Given the description of an element on the screen output the (x, y) to click on. 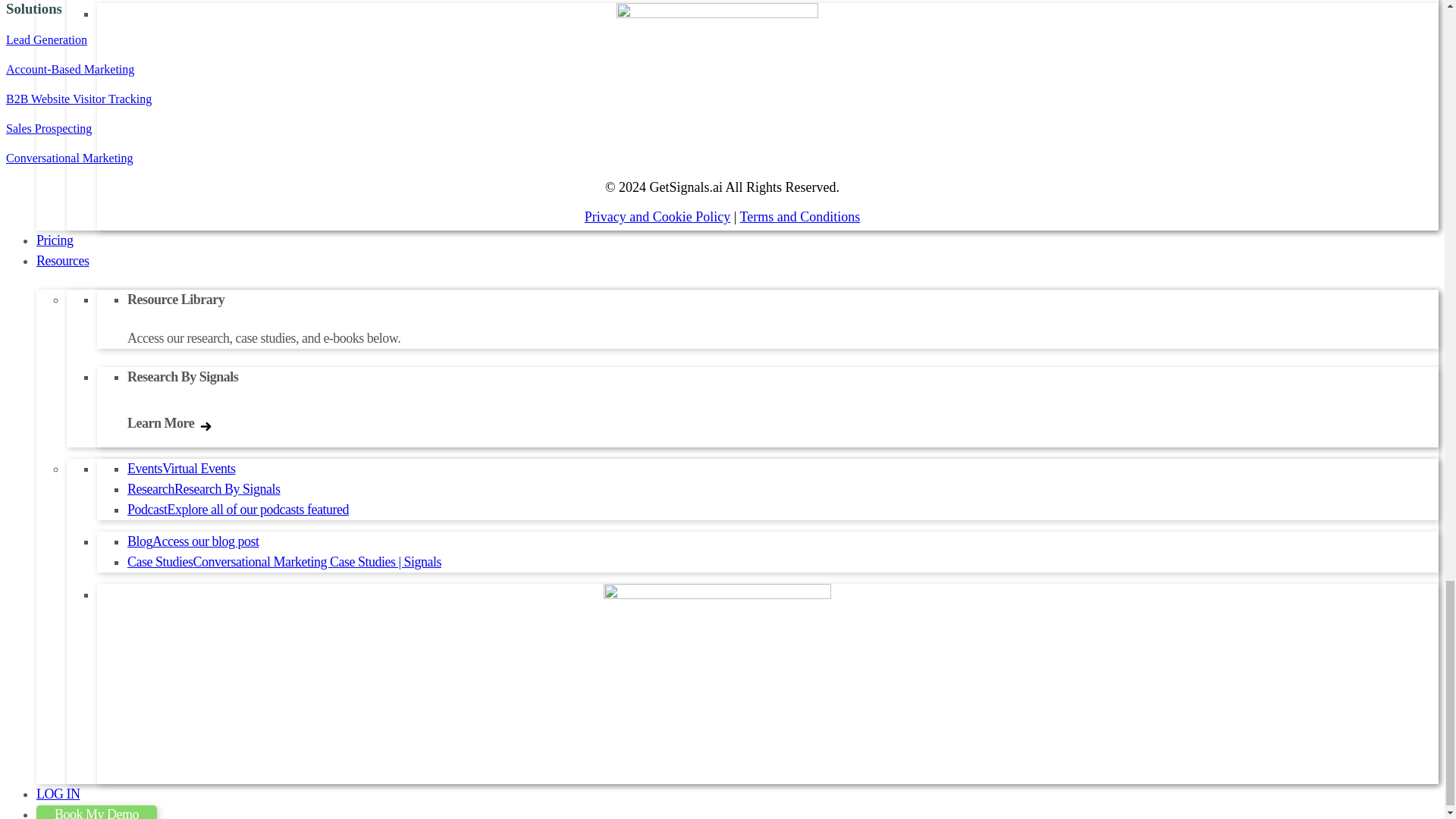
Pricing (55, 240)
PodcastExplore all of our podcasts featured (238, 509)
EventsVirtual Events (181, 468)
ResearchResearch By Signals (203, 488)
Resources (62, 260)
LOG IN (58, 793)
BlogAccess our blog post (193, 540)
